Given the description of an element on the screen output the (x, y) to click on. 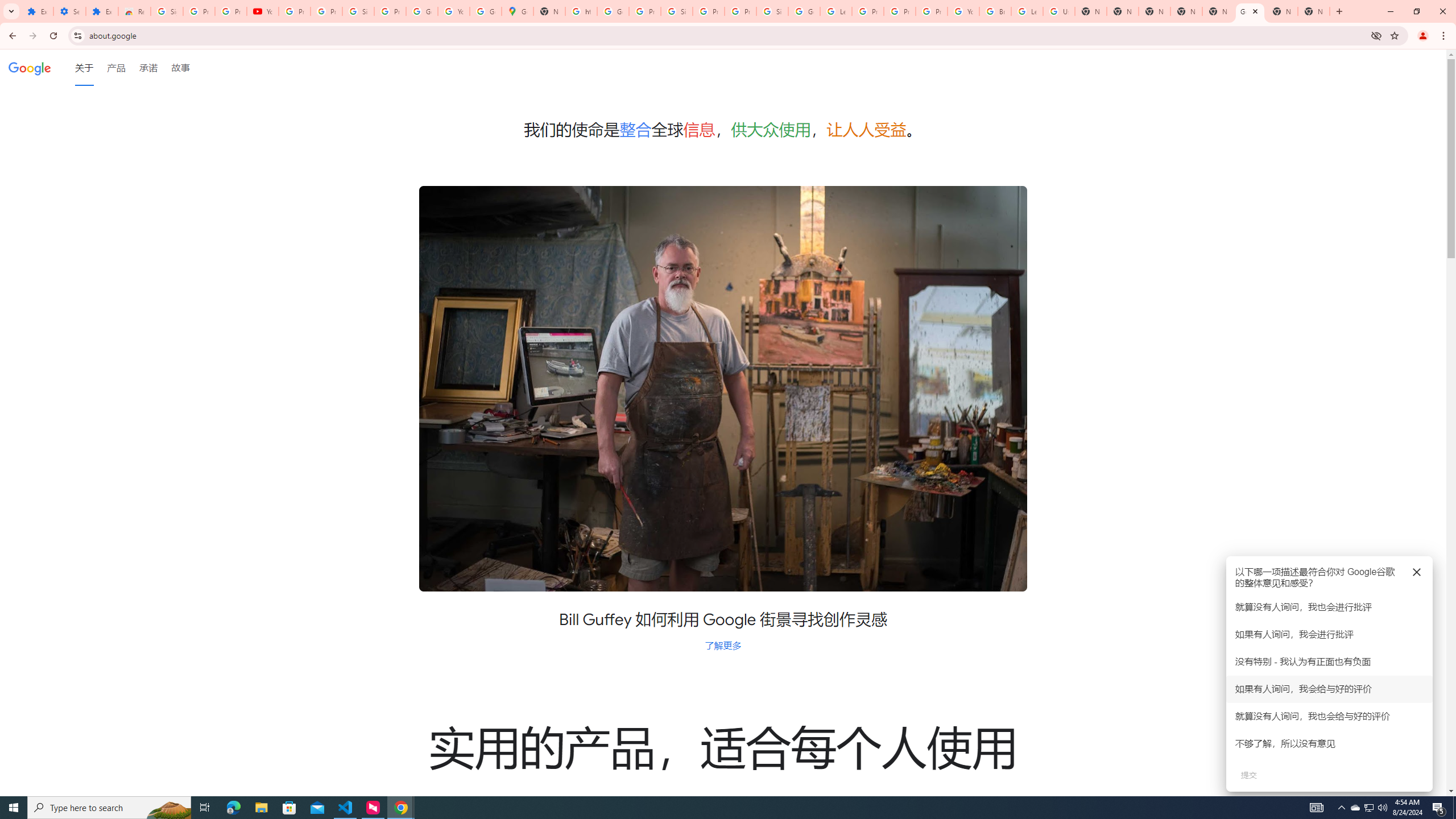
Google Maps (517, 11)
Google Account (421, 11)
New Tab (1154, 11)
YouTube (963, 11)
Sign in - Google Accounts (166, 11)
